Given the description of an element on the screen output the (x, y) to click on. 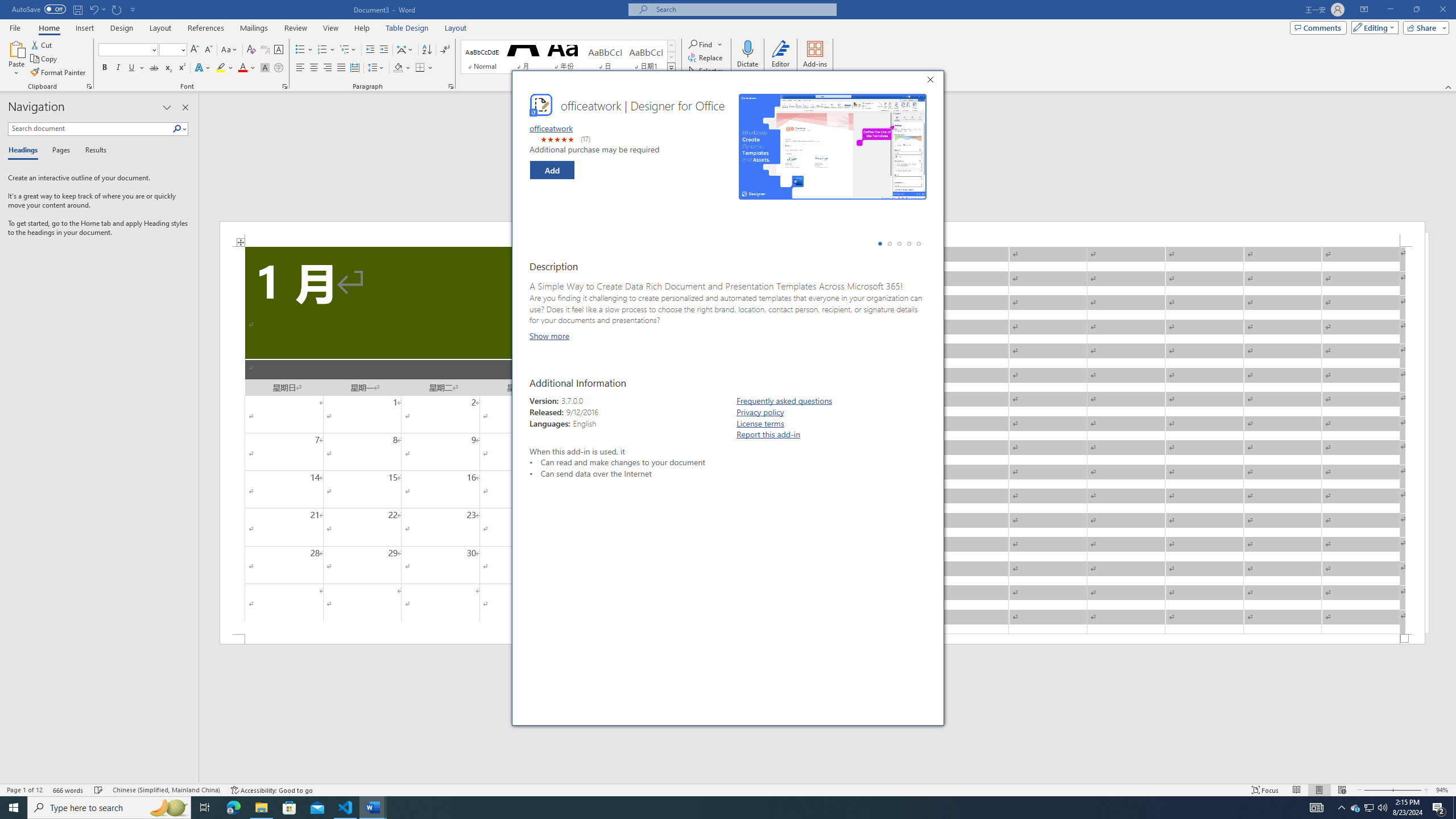
Privacy policy (759, 411)
Can send data over the Internet (638, 473)
